Given the description of an element on the screen output the (x, y) to click on. 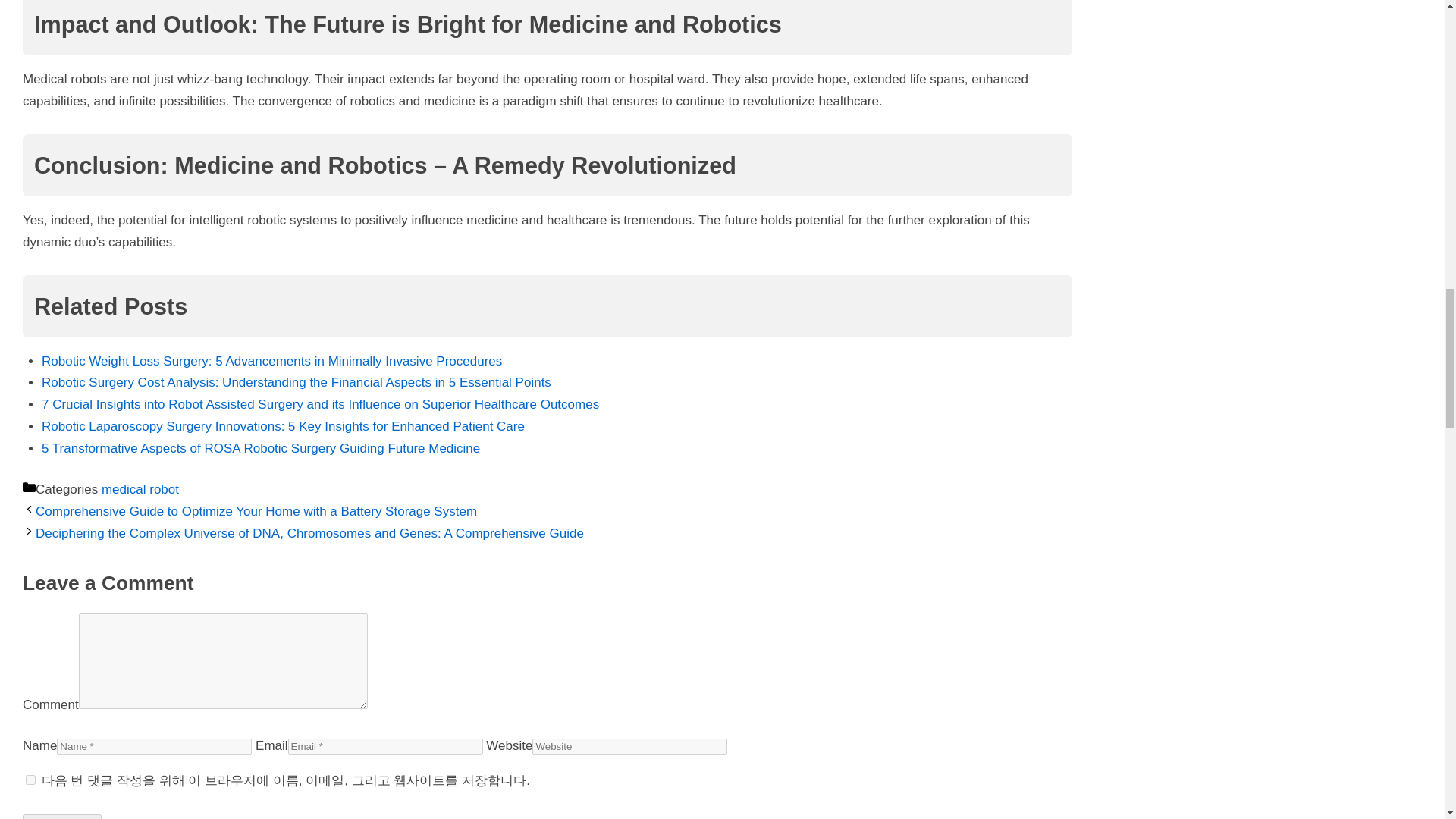
yes (30, 779)
Post Comment (62, 816)
medical robot (140, 489)
Post Comment (62, 816)
